Given the description of an element on the screen output the (x, y) to click on. 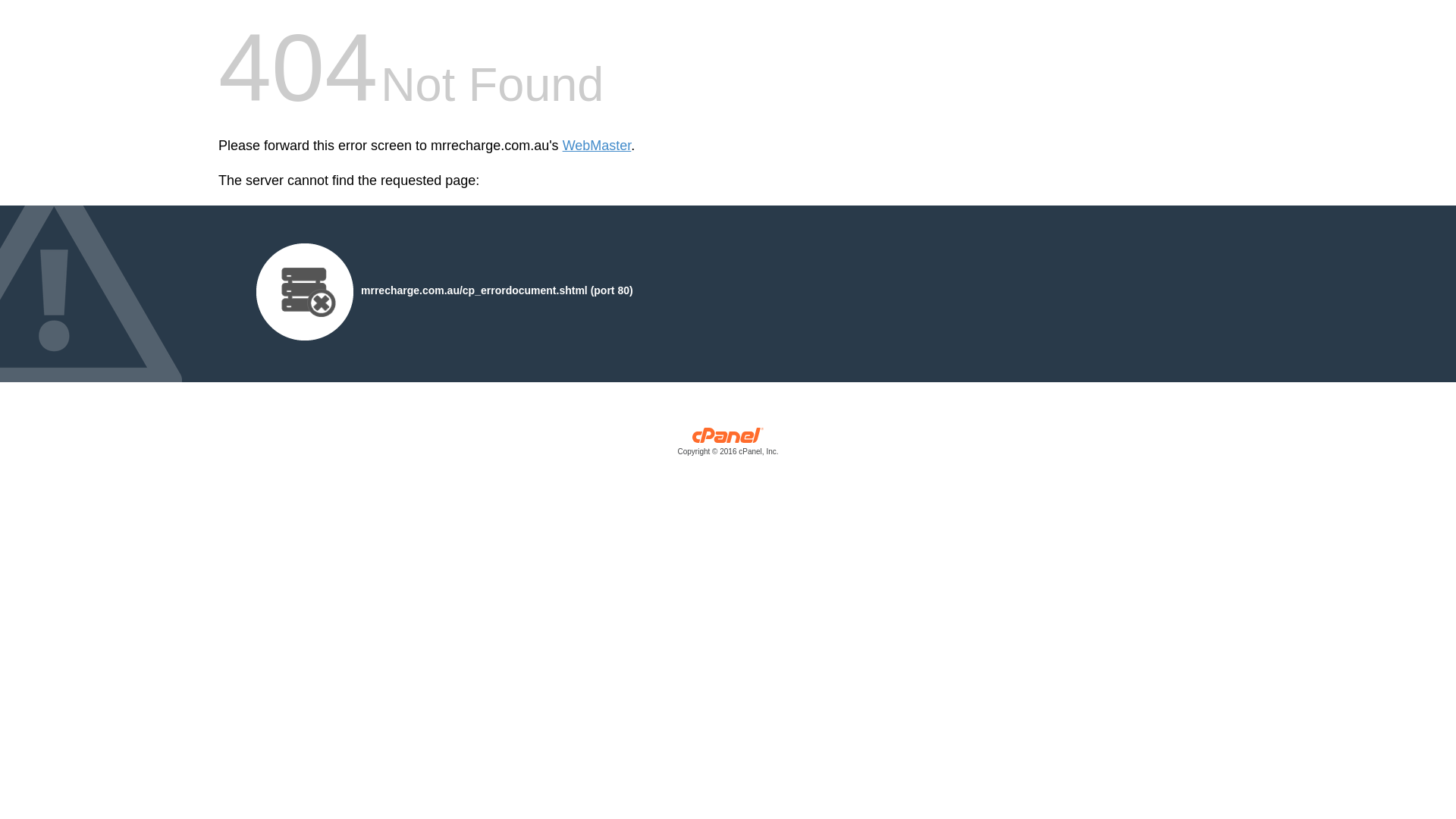
WebMaster Element type: text (596, 145)
